Given the description of an element on the screen output the (x, y) to click on. 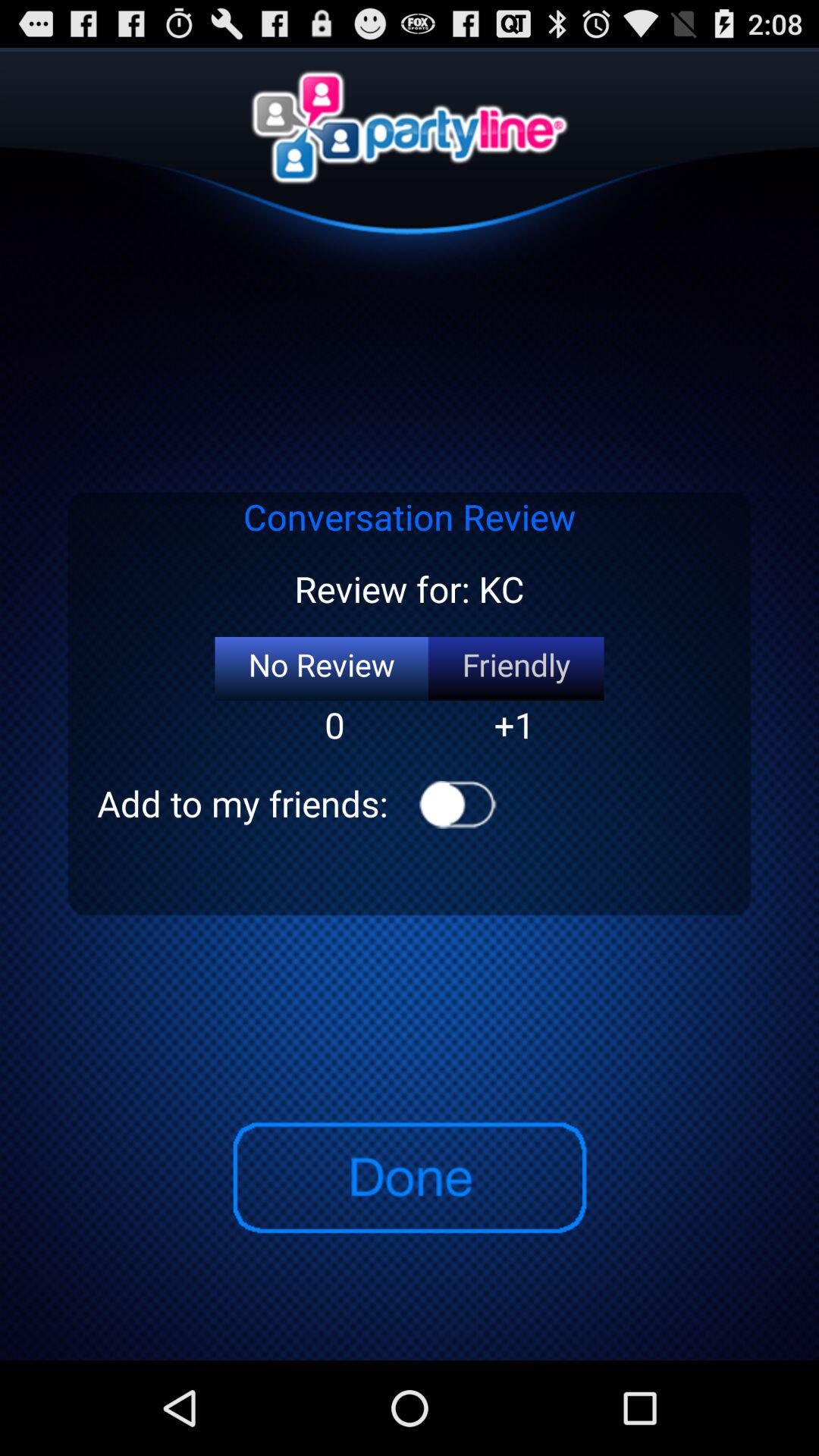
click the item below the +1 app (457, 804)
